Given the description of an element on the screen output the (x, y) to click on. 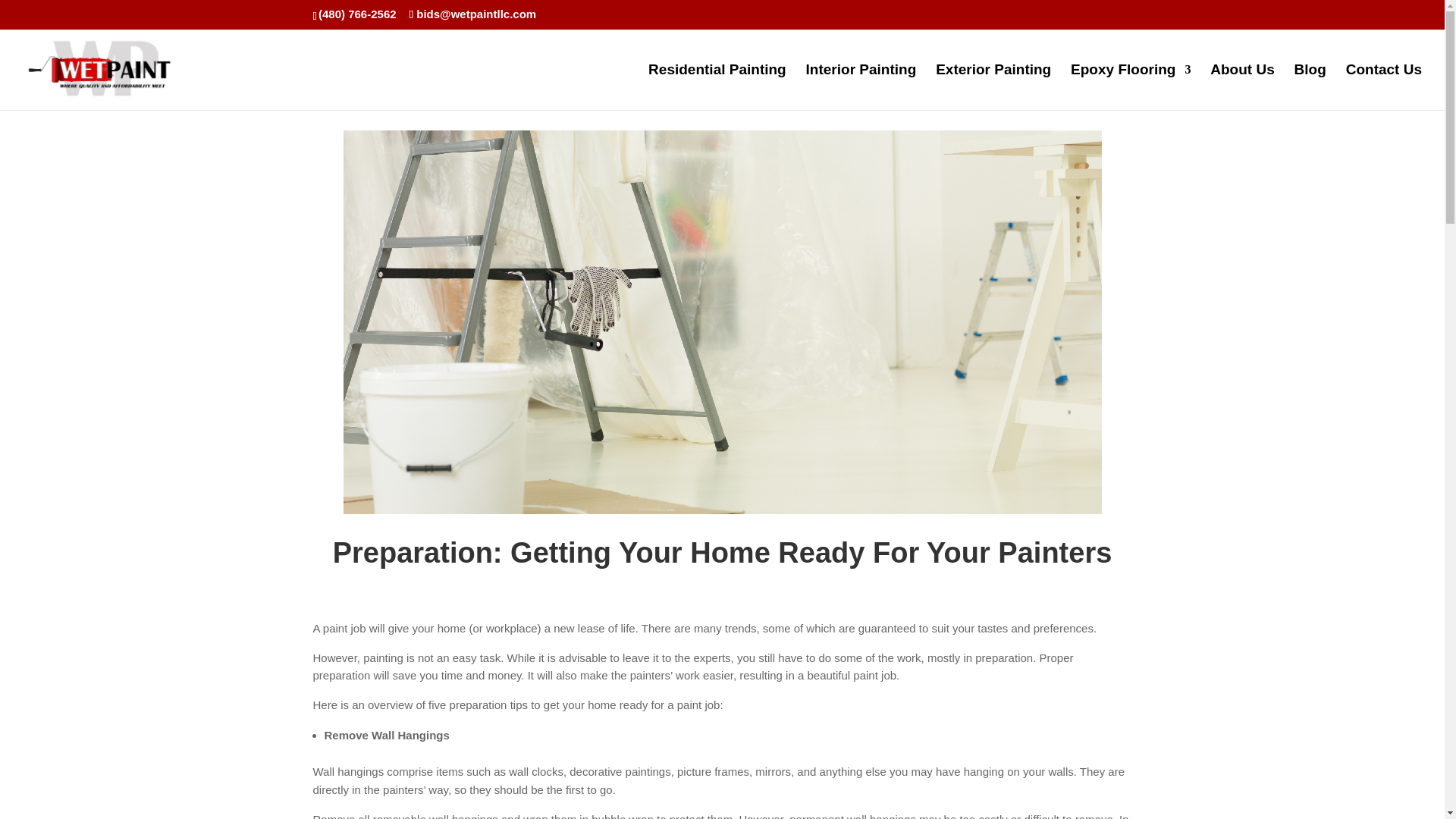
About Us (1241, 85)
Interior Painting (861, 85)
Contact Us (1383, 85)
Epoxy Flooring (1130, 85)
Exterior Painting (993, 85)
Residential Painting (716, 85)
